Given the description of an element on the screen output the (x, y) to click on. 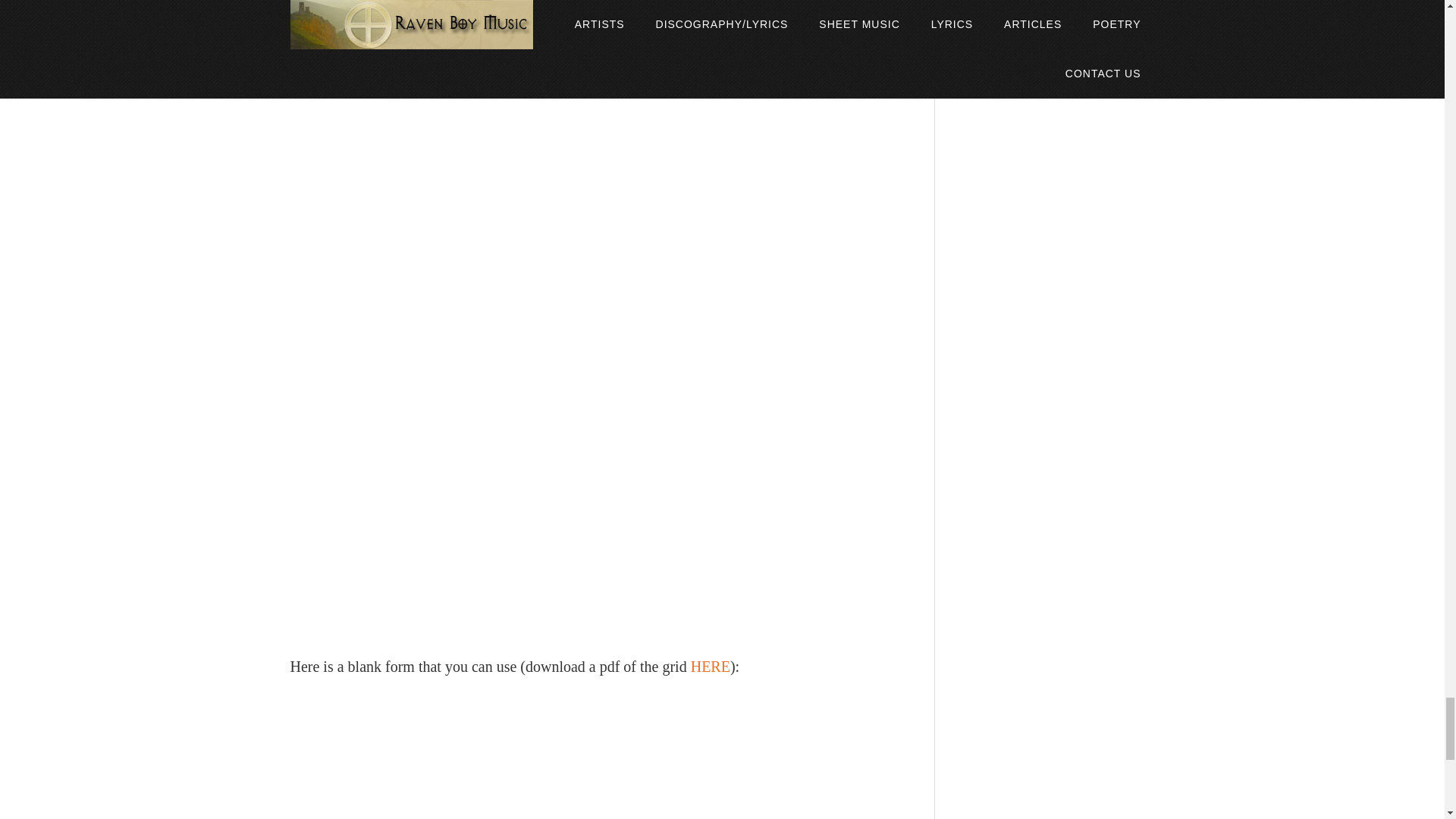
HERE (710, 666)
